Given the description of an element on the screen output the (x, y) to click on. 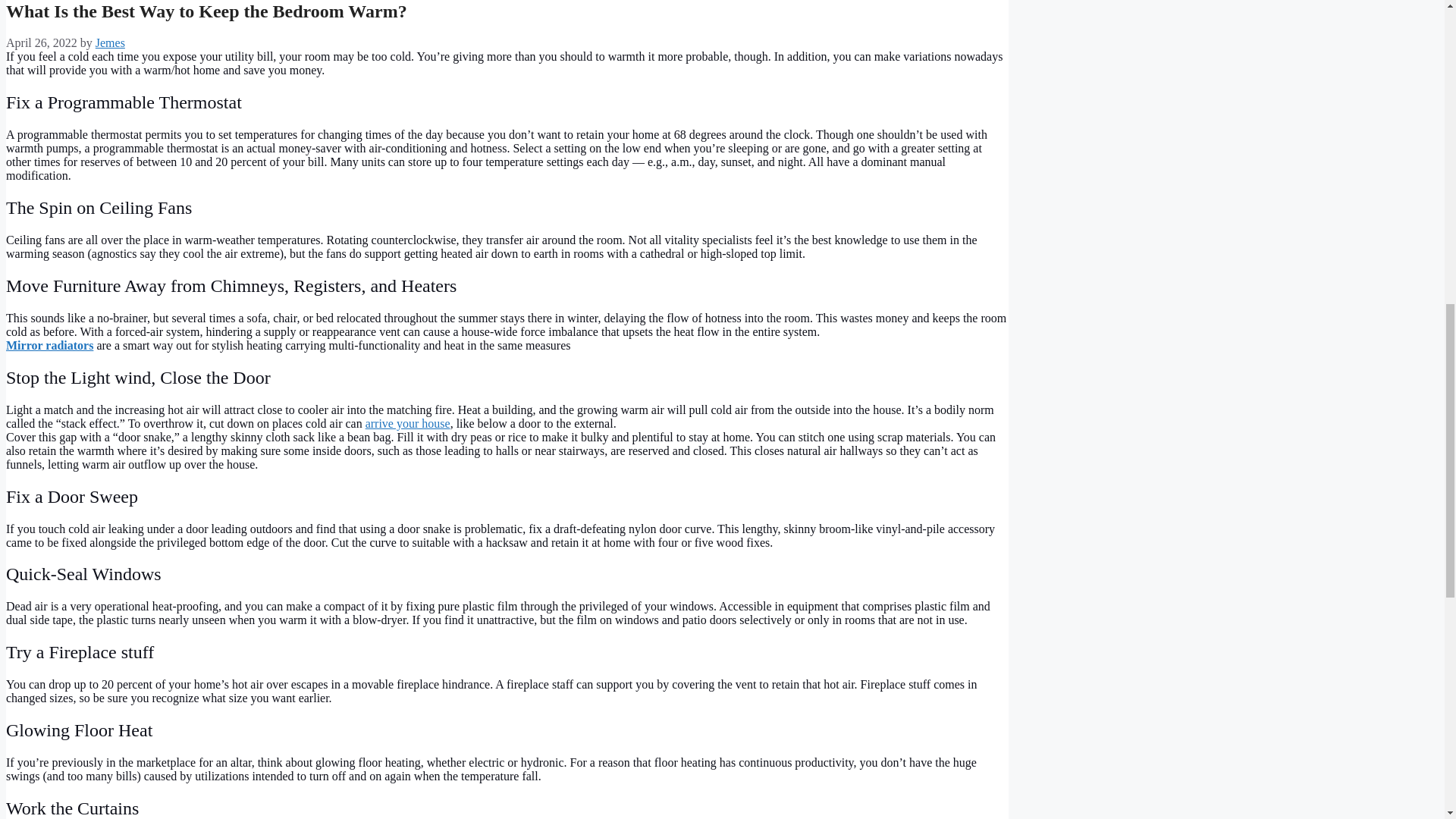
Jemes (110, 42)
Mirror radiators (49, 345)
arrive your house (407, 422)
View all posts by Jemes (110, 42)
